Given the description of an element on the screen output the (x, y) to click on. 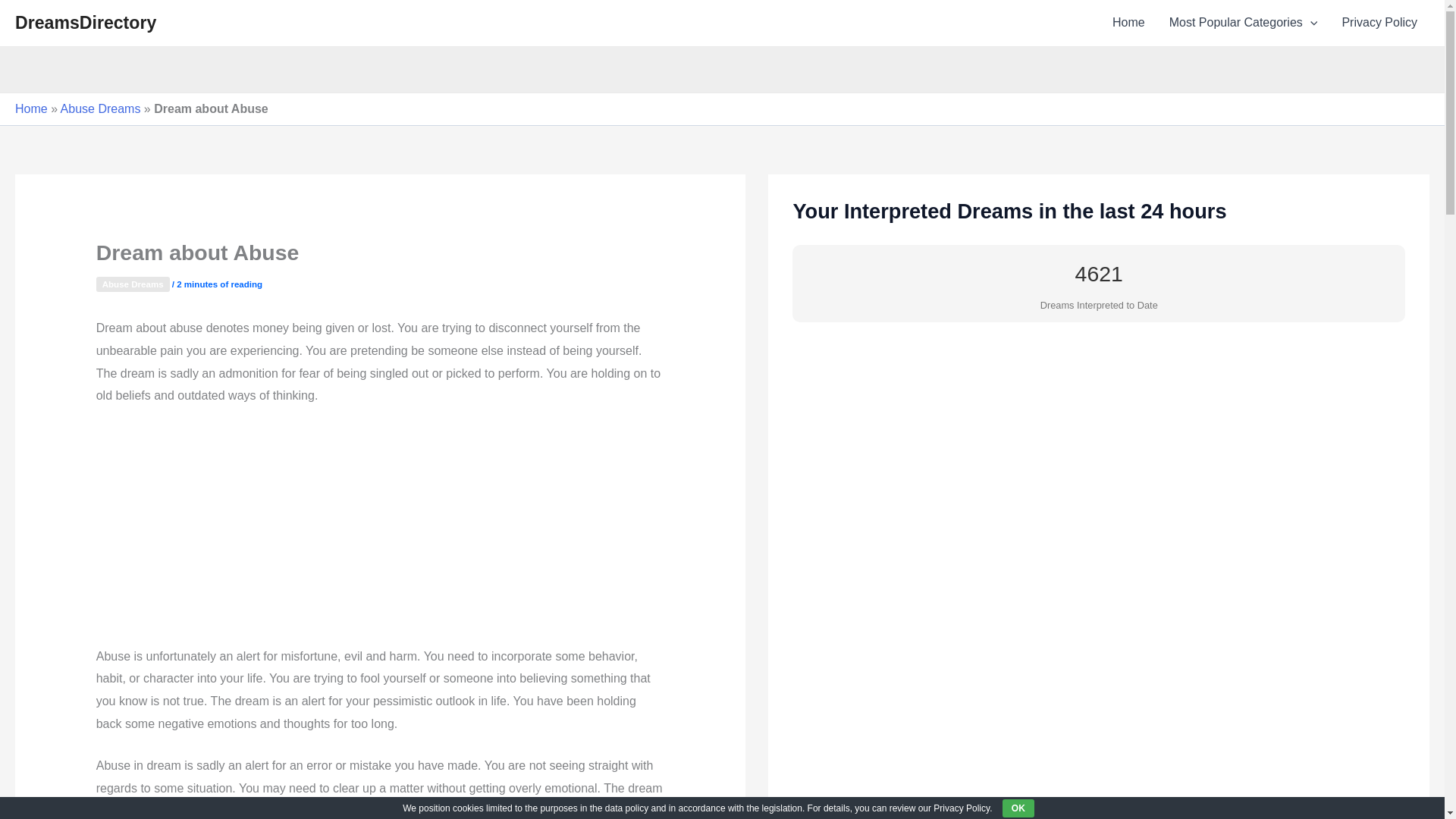
Home (31, 108)
Advertisement (380, 532)
DreamsDirectory (84, 22)
Privacy Policy (1379, 22)
Abuse Dreams (133, 283)
Most Popular Categories (1243, 22)
Home (1128, 22)
Abuse Dreams (101, 108)
